Given the description of an element on the screen output the (x, y) to click on. 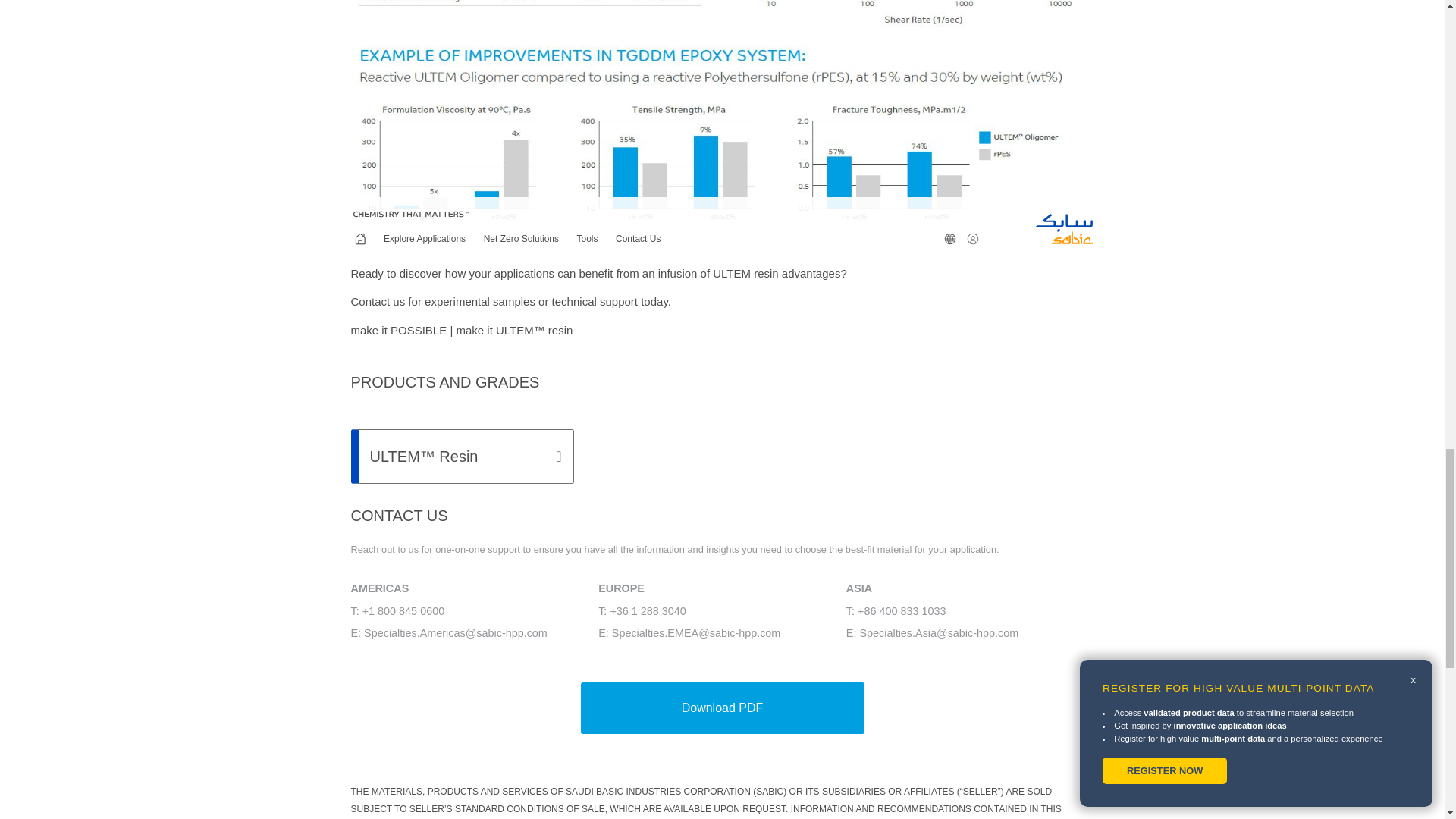
Download PDF (721, 707)
Download PDF (722, 707)
